Given the description of an element on the screen output the (x, y) to click on. 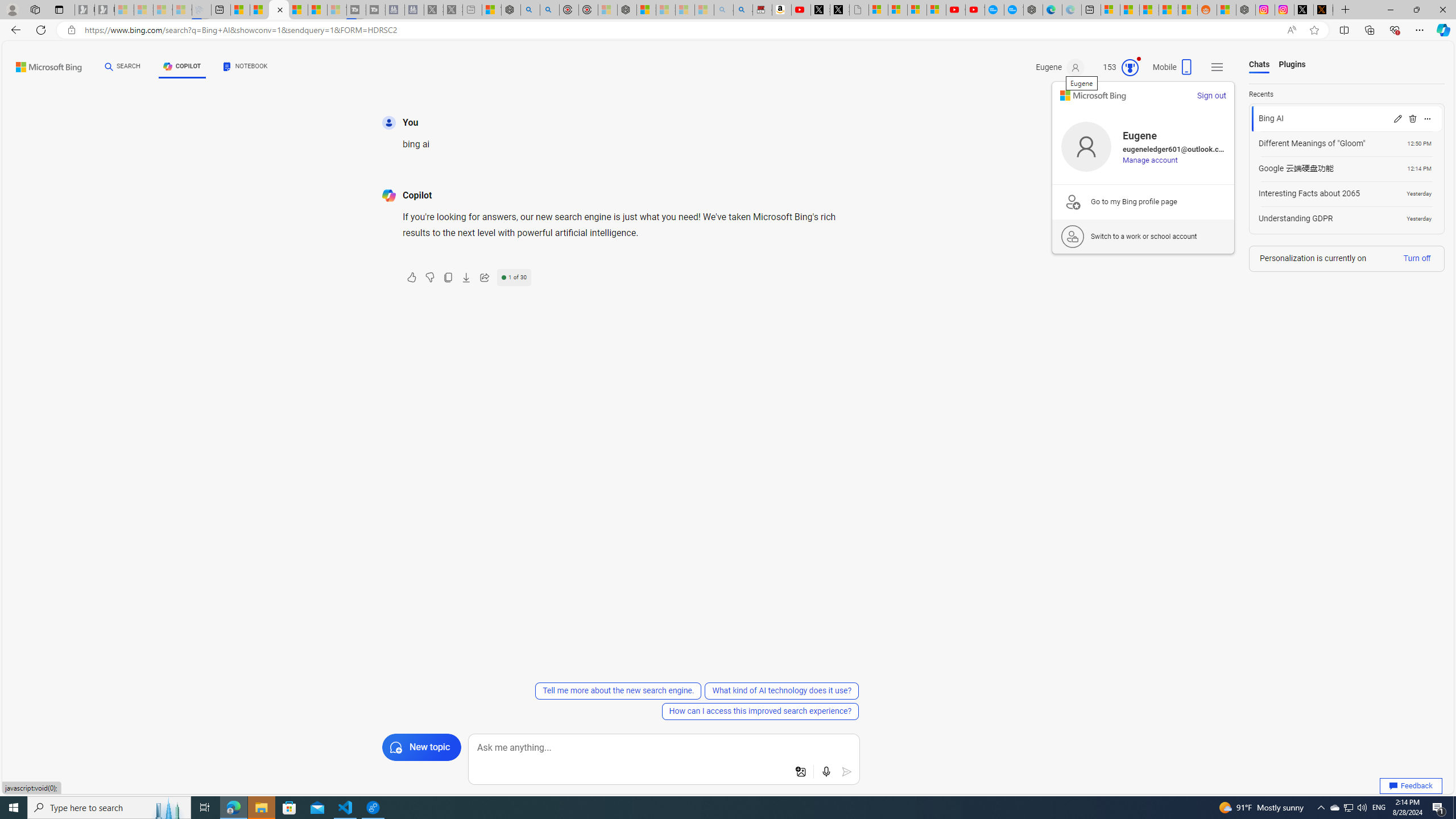
Nordace - Nordace has arrived Hong Kong (1033, 9)
NOTEBOOK (245, 68)
Back (13, 29)
Log in to X / X (1303, 9)
Chat (109, 65)
Microsoft Rewards 153 (1116, 67)
Eugene (1059, 67)
Copilot with GPT-4 (279, 9)
What kind of AI technology does it use? (781, 690)
What kind of AI technology does it use? (780, 690)
poe - Search (529, 9)
Settings and more (Alt+F) (1419, 29)
Untitled (858, 9)
